Given the description of an element on the screen output the (x, y) to click on. 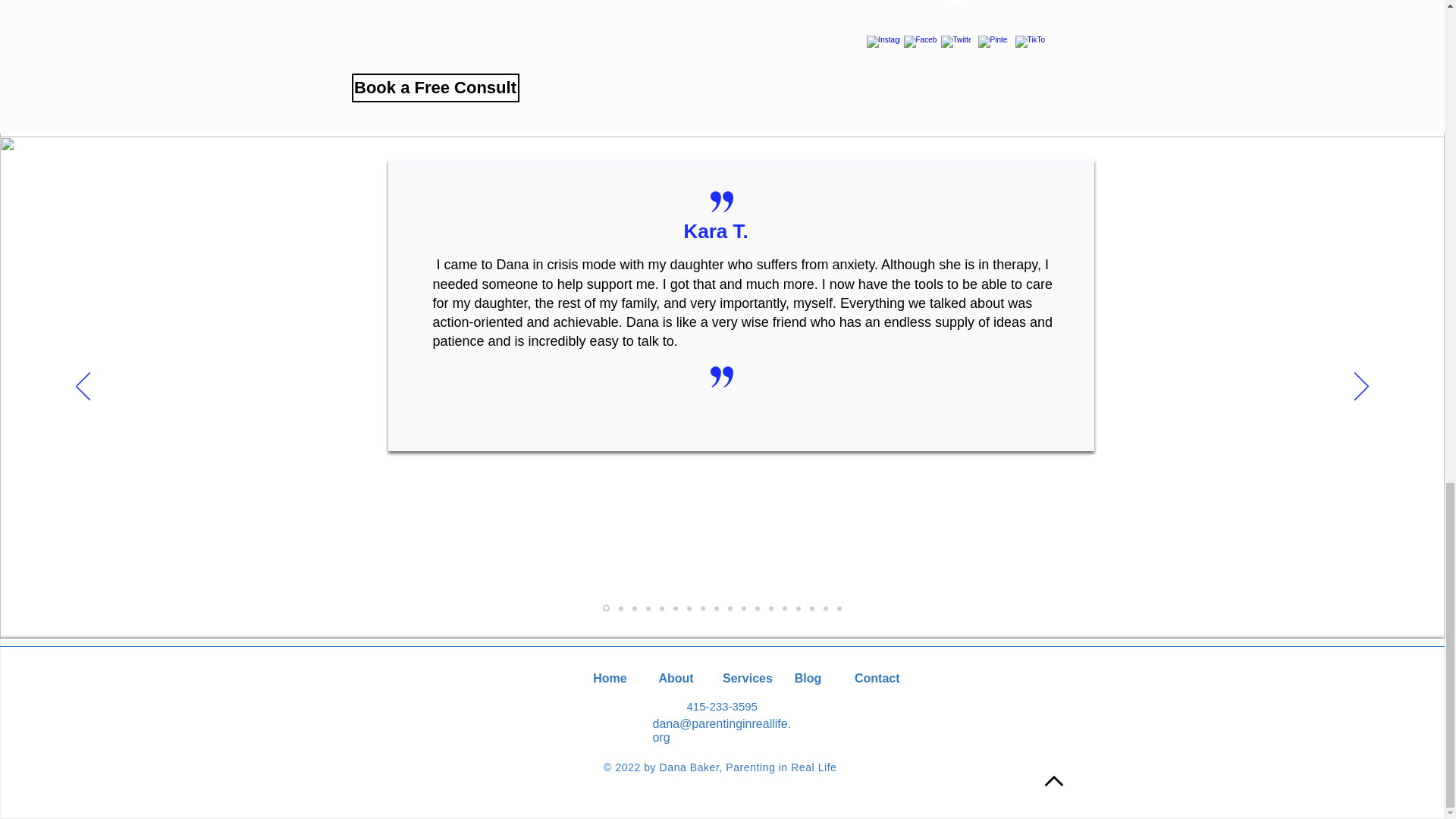
Home (609, 671)
About (676, 671)
Services (741, 671)
Book a Free Consult (435, 87)
